Given the description of an element on the screen output the (x, y) to click on. 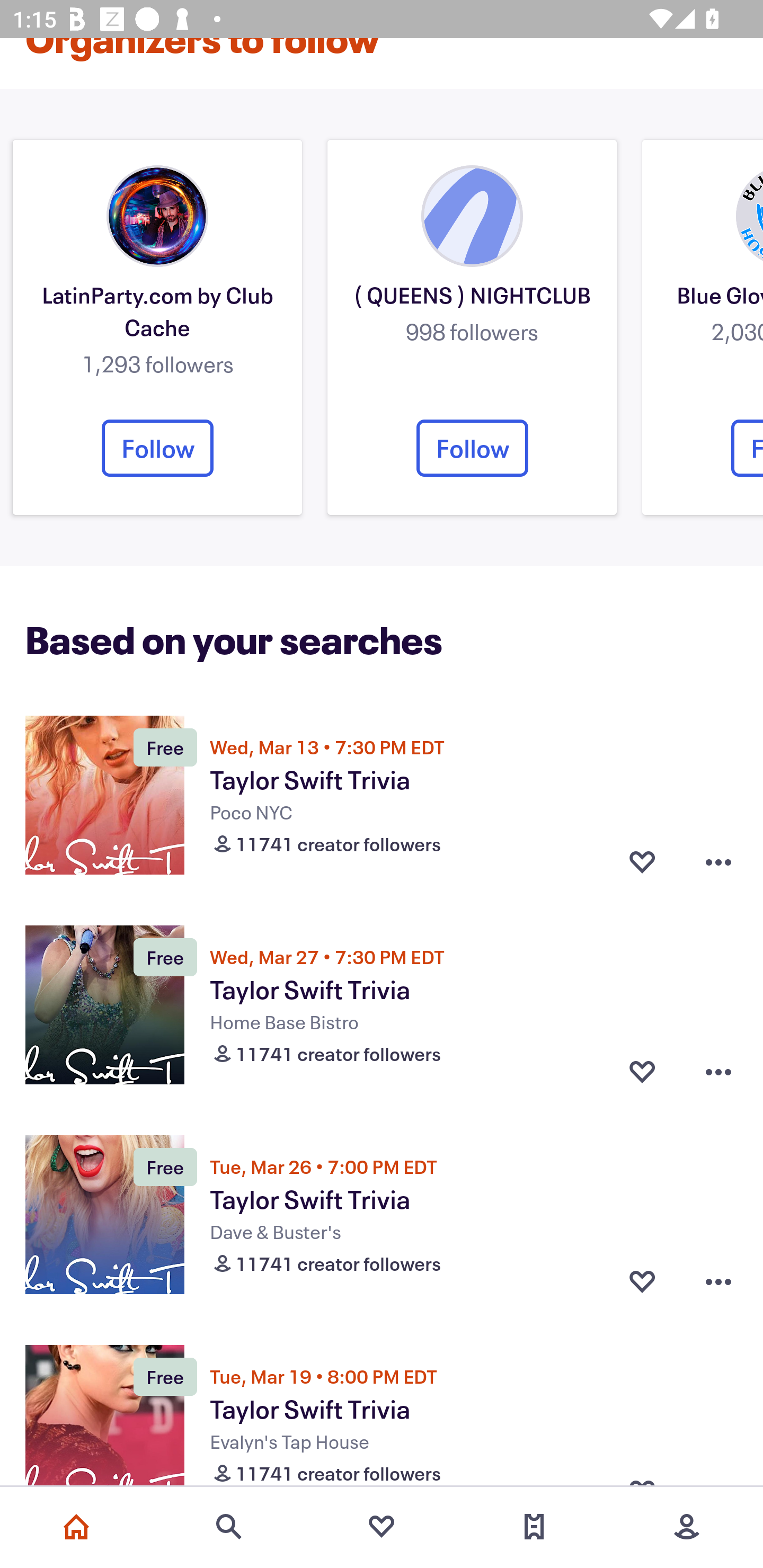
Follow Organizer's follow button (157, 448)
Follow Organizer's follow button (471, 448)
Favorite button (642, 862)
Overflow menu button (718, 862)
Favorite button (642, 1071)
Overflow menu button (718, 1071)
Favorite button (642, 1281)
Overflow menu button (718, 1281)
Home (76, 1526)
Search events (228, 1526)
Favorites (381, 1526)
Tickets (533, 1526)
More (686, 1526)
